Given the description of an element on the screen output the (x, y) to click on. 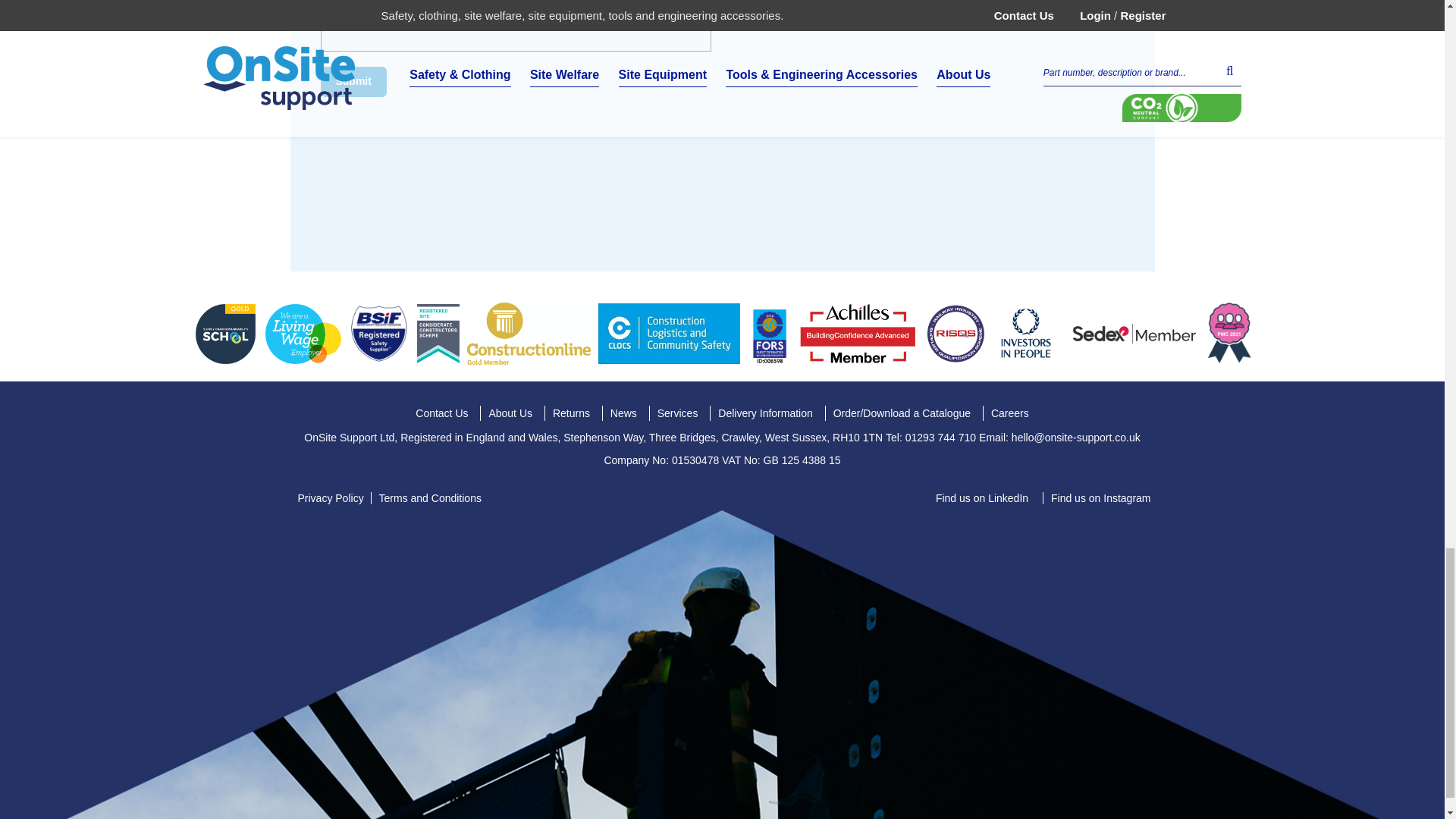
Submit (352, 81)
